Given the description of an element on the screen output the (x, y) to click on. 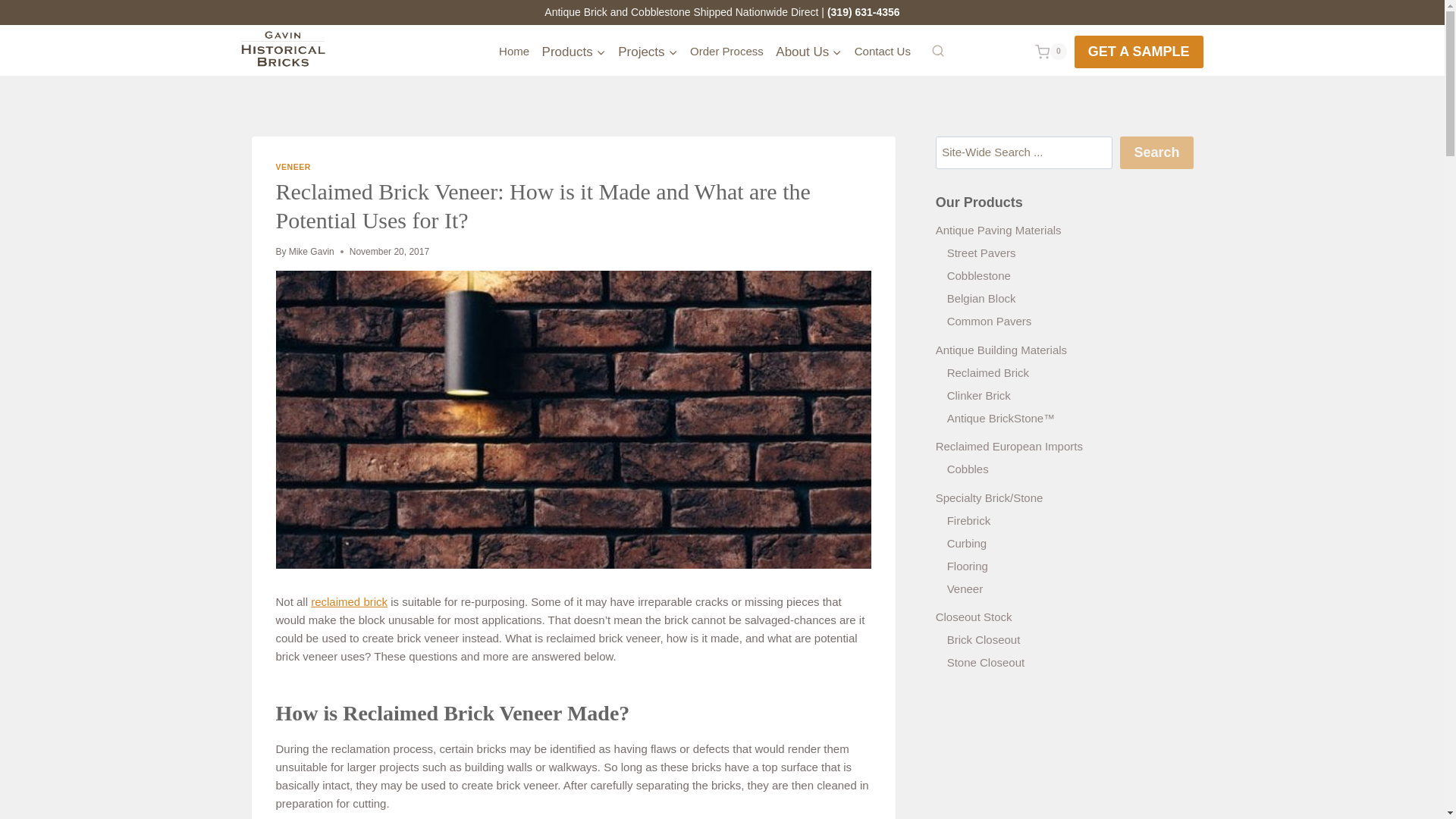
About Us (808, 51)
Contact Us (882, 51)
Order Process (727, 51)
Products (573, 51)
Home (514, 51)
Projects (647, 51)
